Given the description of an element on the screen output the (x, y) to click on. 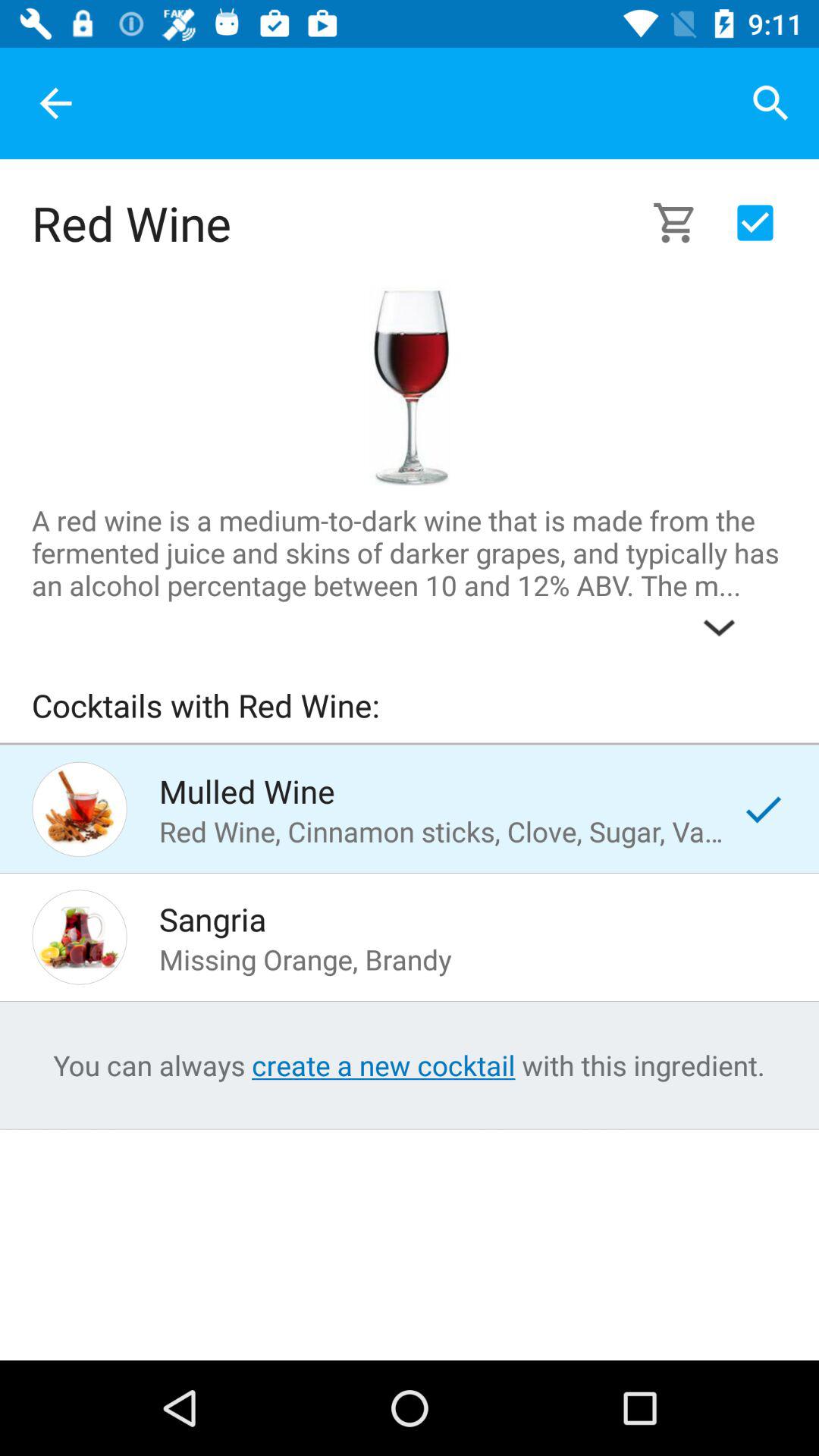
add to cart (755, 222)
